Given the description of an element on the screen output the (x, y) to click on. 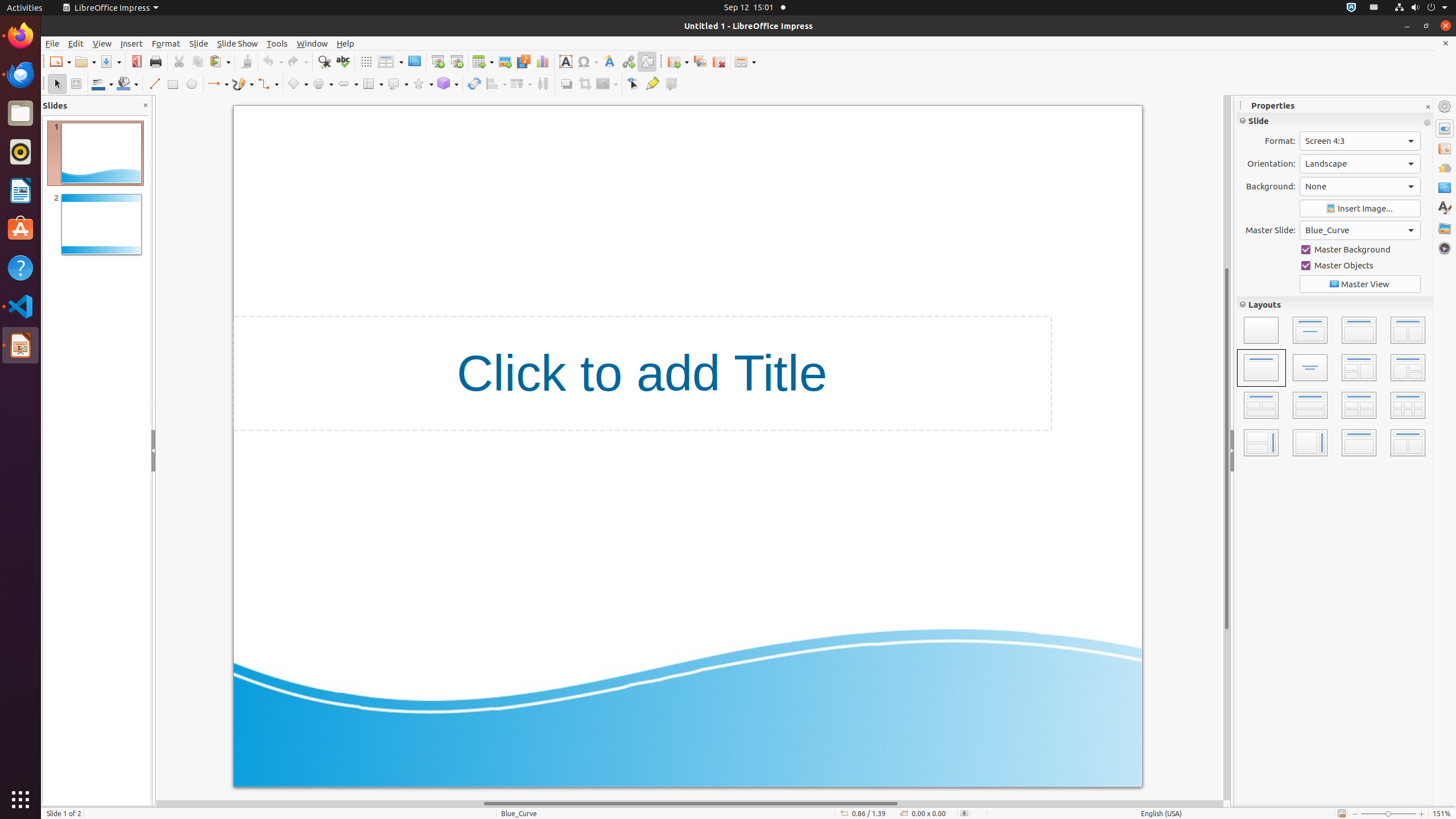
Italic Element type: toggle-button (1261, 166)
System Element type: menu (1420, 7)
Hyperlink Element type: toggle-button (627, 61)
Start from Current Slide Element type: push-button (456, 61)
Ellipse Element type: push-button (191, 83)
